Given the description of an element on the screen output the (x, y) to click on. 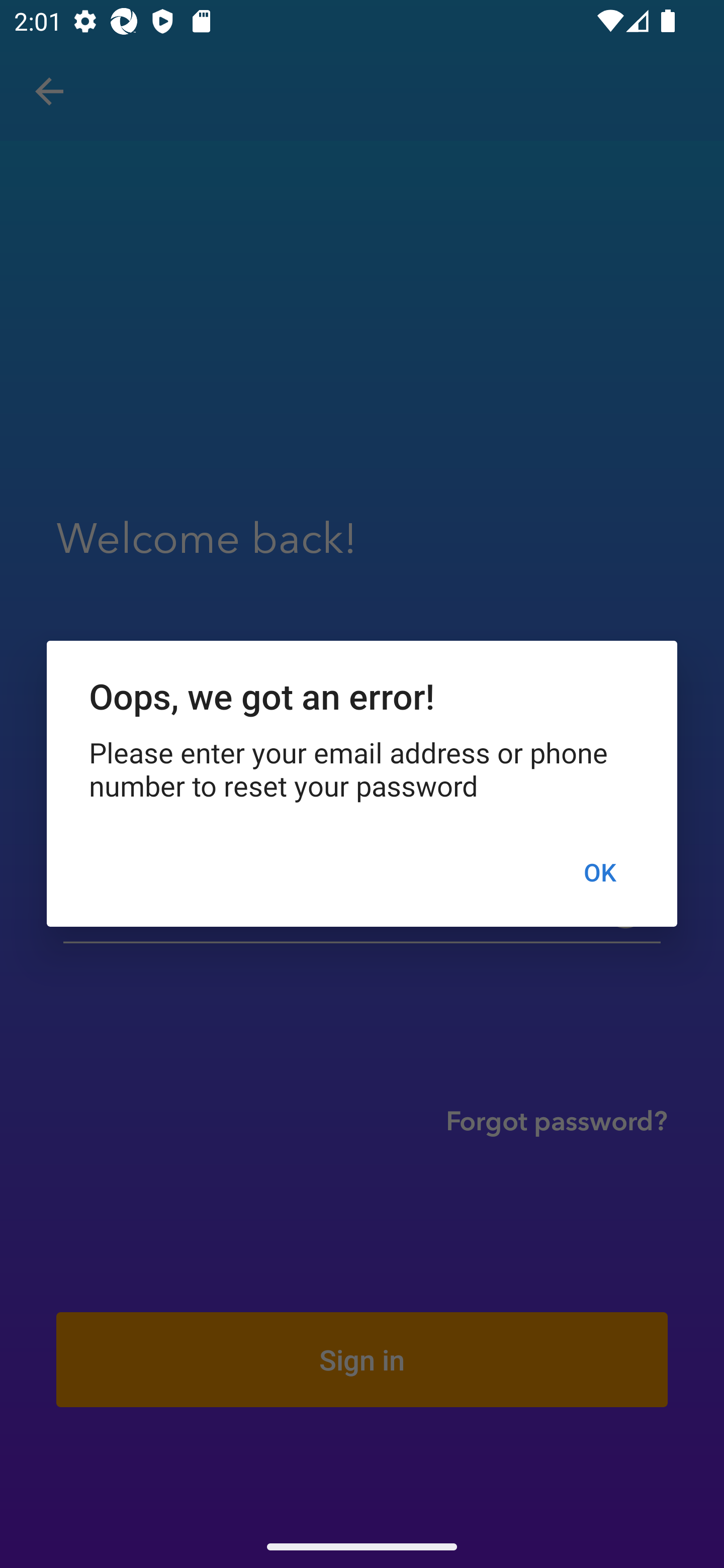
OK (599, 872)
